Given the description of an element on the screen output the (x, y) to click on. 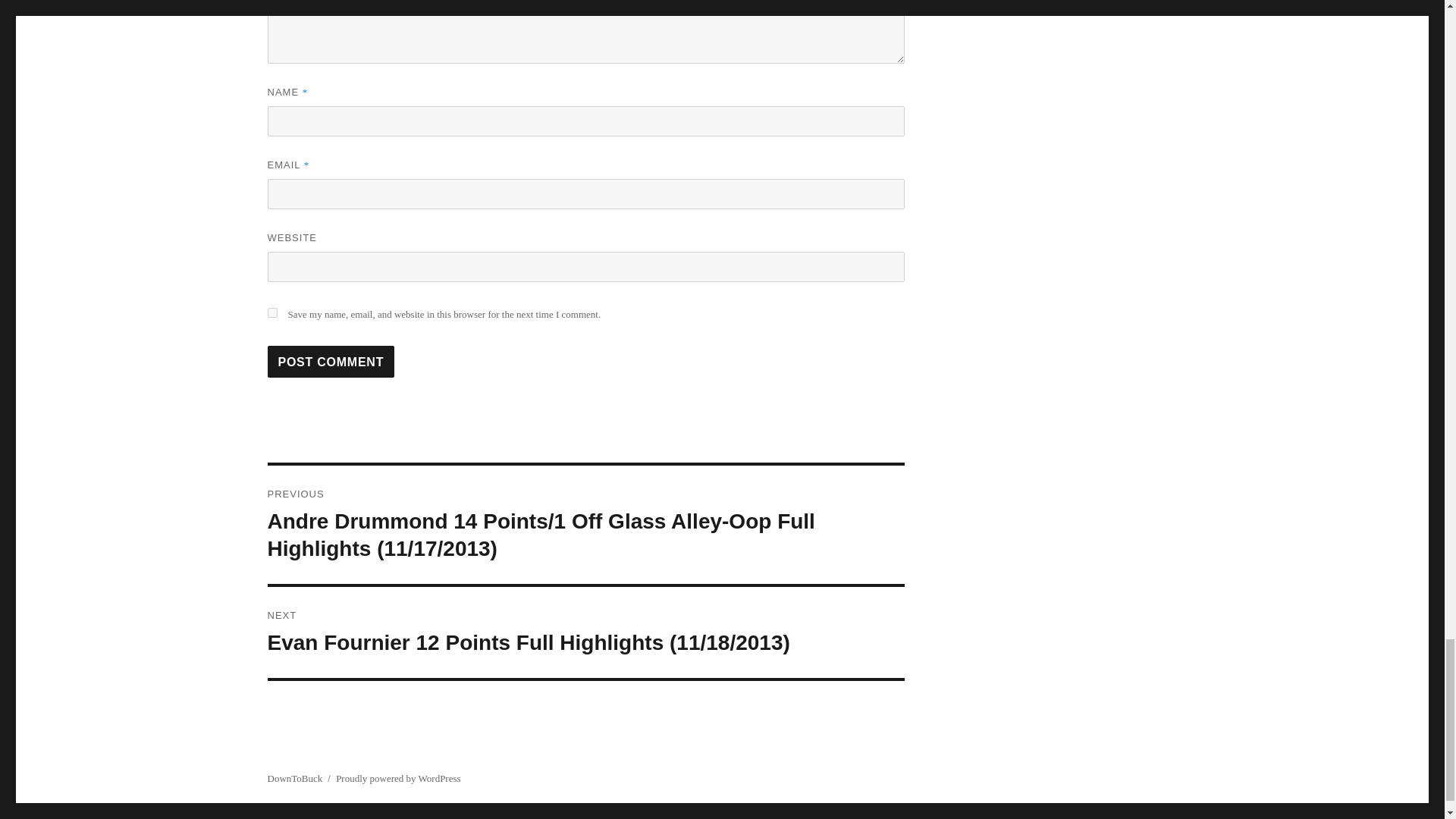
Post Comment (330, 361)
yes (271, 312)
